Given the description of an element on the screen output the (x, y) to click on. 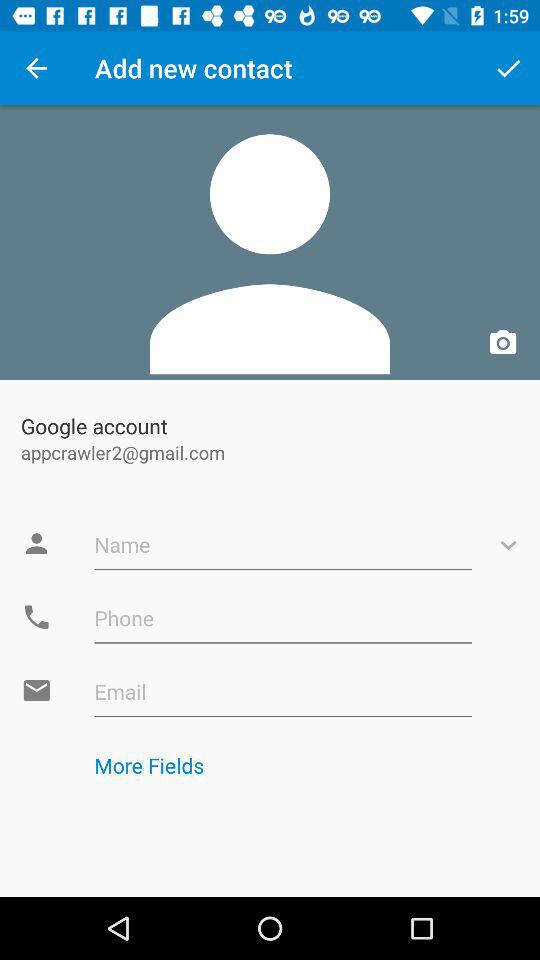
turn off the item next to the add new contact (508, 67)
